Given the description of an element on the screen output the (x, y) to click on. 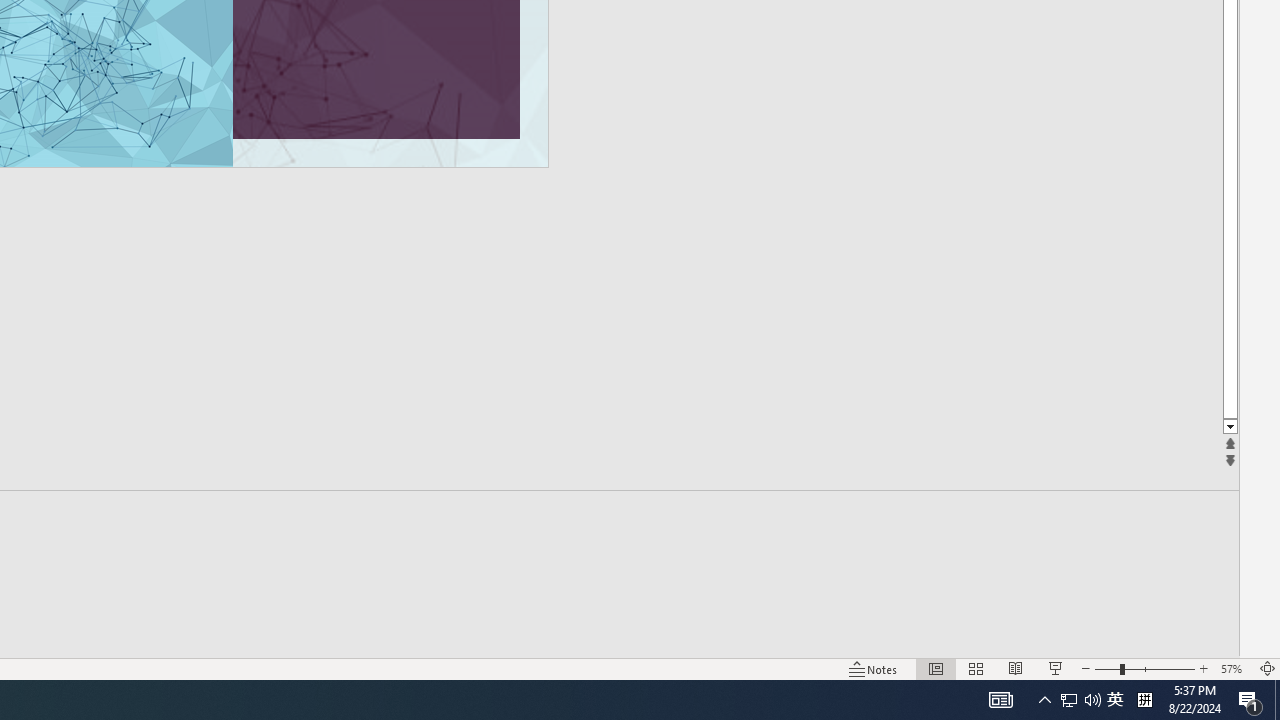
Zoom 57% (1234, 668)
Reading View (1015, 668)
Zoom In (1204, 668)
Zoom to Fit  (1267, 668)
Normal (936, 668)
Slide Show (1055, 668)
Slide Sorter (975, 668)
Zoom Out (1107, 668)
Zoom (1144, 668)
Line down (1230, 427)
Notes  (874, 668)
